Given the description of an element on the screen output the (x, y) to click on. 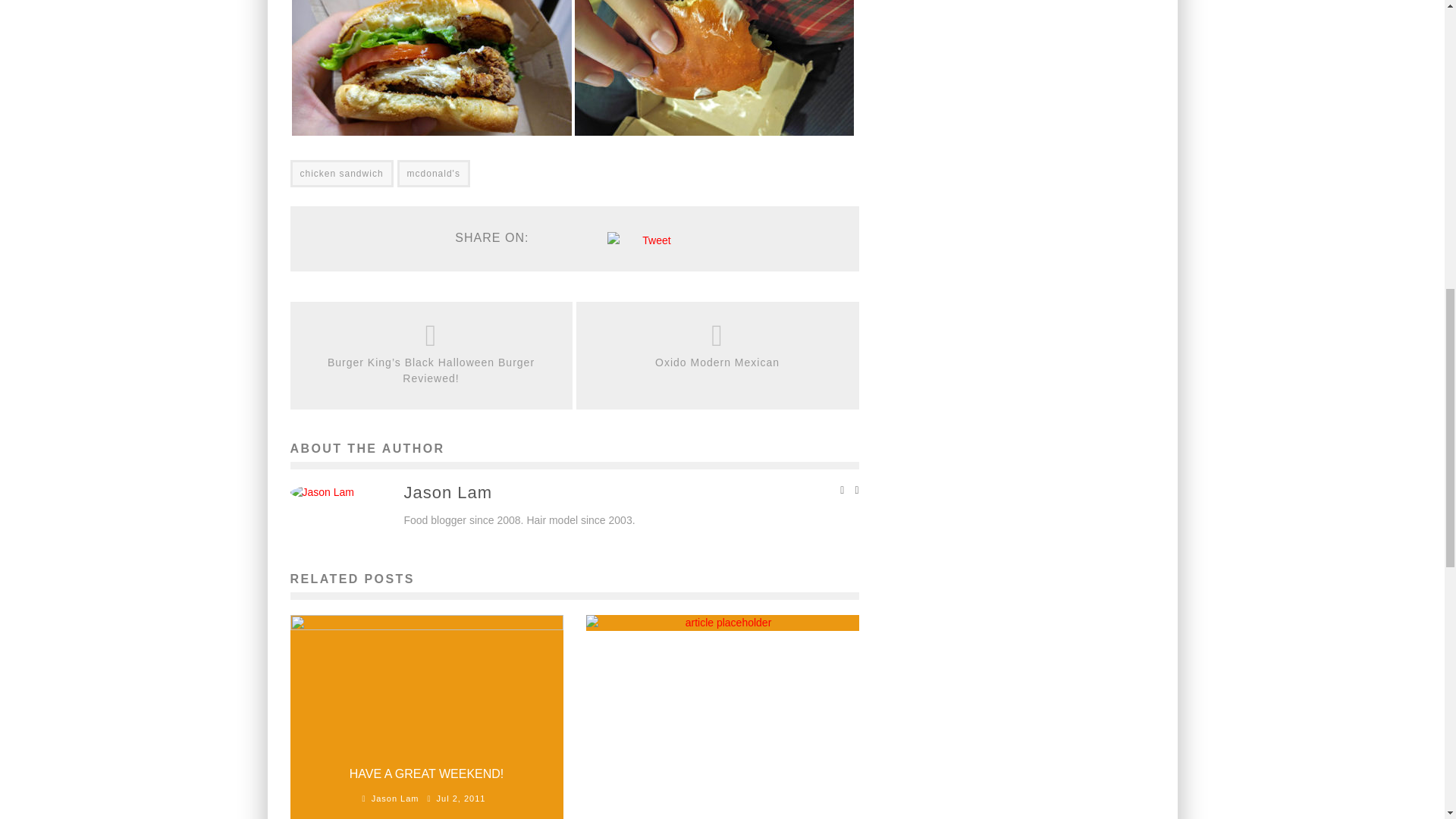
03 McDonald's Buttermilk Crispy Chicken Sandwich (430, 68)
HAVE A GREAT WEEKEND! (426, 773)
Jason Lam (447, 492)
chicken sandwich (341, 173)
Tweet (655, 240)
04 McDonald's Buttermilk Crispy Chicken Sandwich (714, 68)
Jason Lam (395, 797)
Oxido Modern Mexican (717, 362)
mcdonald's (433, 173)
Tio Wally (676, 609)
